Given the description of an element on the screen output the (x, y) to click on. 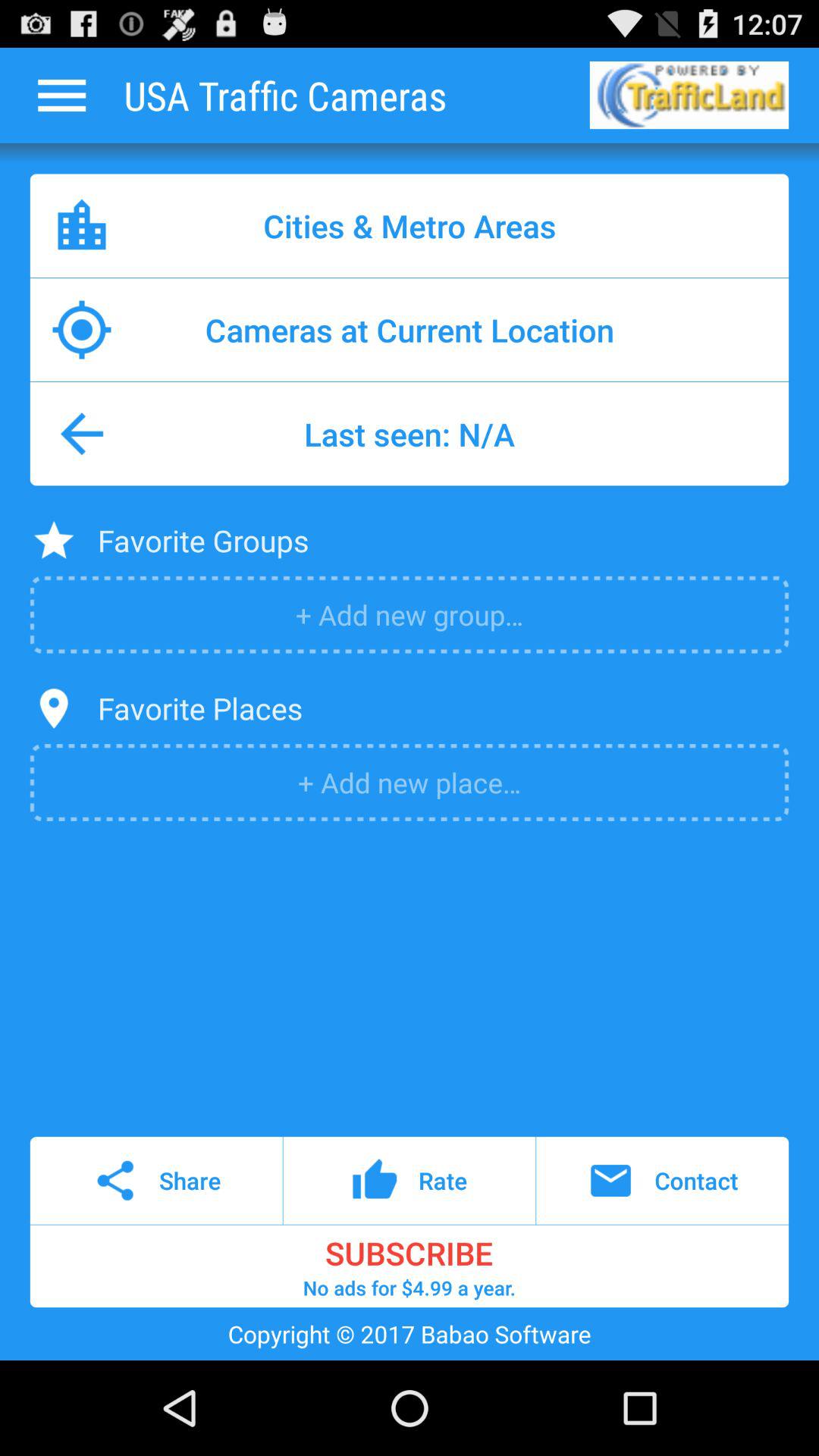
swipe until the usa traffic cameras item (285, 94)
